Given the description of an element on the screen output the (x, y) to click on. 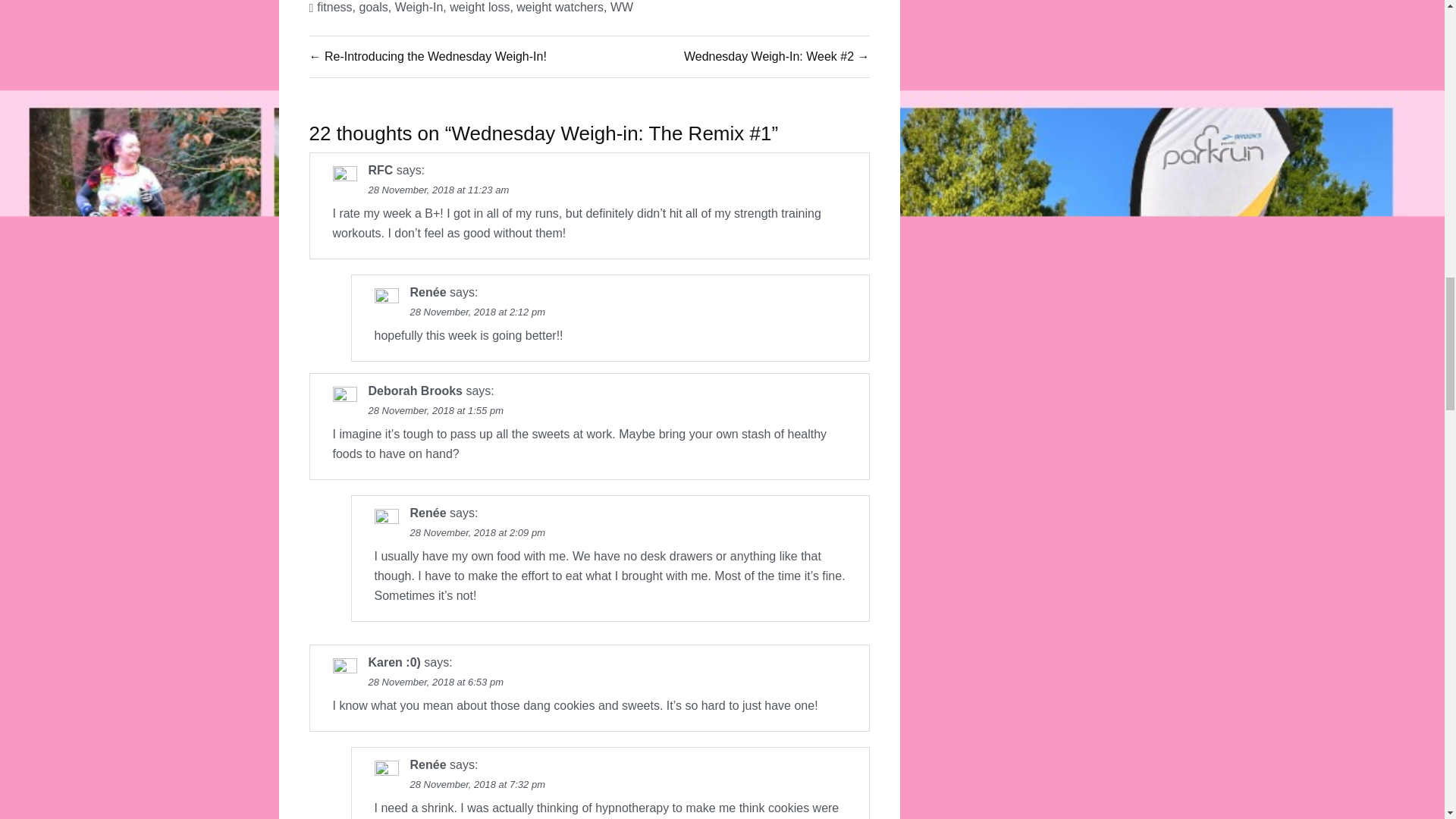
28 November, 2018 at 6:53 pm (435, 681)
weight watchers (560, 6)
28 November, 2018 at 2:09 pm (476, 532)
28 November, 2018 at 1:55 pm (435, 410)
weight loss (479, 6)
WW (621, 6)
28 November, 2018 at 2:12 pm (476, 311)
Weigh-In (419, 6)
28 November, 2018 at 7:32 pm (476, 784)
Deborah Brooks (415, 390)
